Given the description of an element on the screen output the (x, y) to click on. 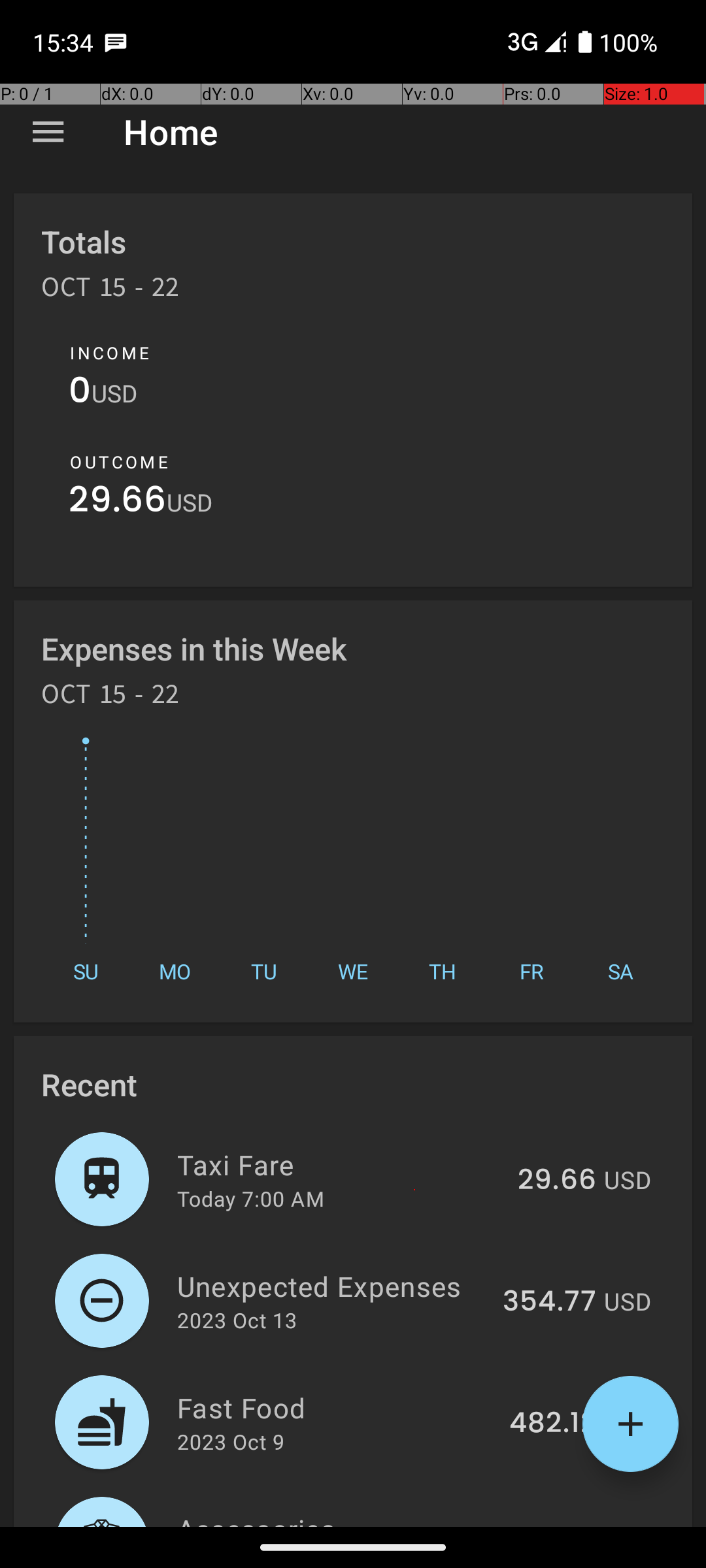
29.66 Element type: android.widget.TextView (117, 502)
Taxi Fare Element type: android.widget.TextView (339, 1164)
Today 7:00 AM Element type: android.widget.TextView (250, 1198)
Unexpected Expenses Element type: android.widget.TextView (332, 1285)
354.77 Element type: android.widget.TextView (549, 1301)
Fast Food Element type: android.widget.TextView (335, 1407)
2023 Oct 9 Element type: android.widget.TextView (230, 1441)
482.12 Element type: android.widget.TextView (552, 1423)
Accessories Element type: android.widget.TextView (339, 1518)
443.9 Element type: android.widget.TextView (556, 1524)
